Given the description of an element on the screen output the (x, y) to click on. 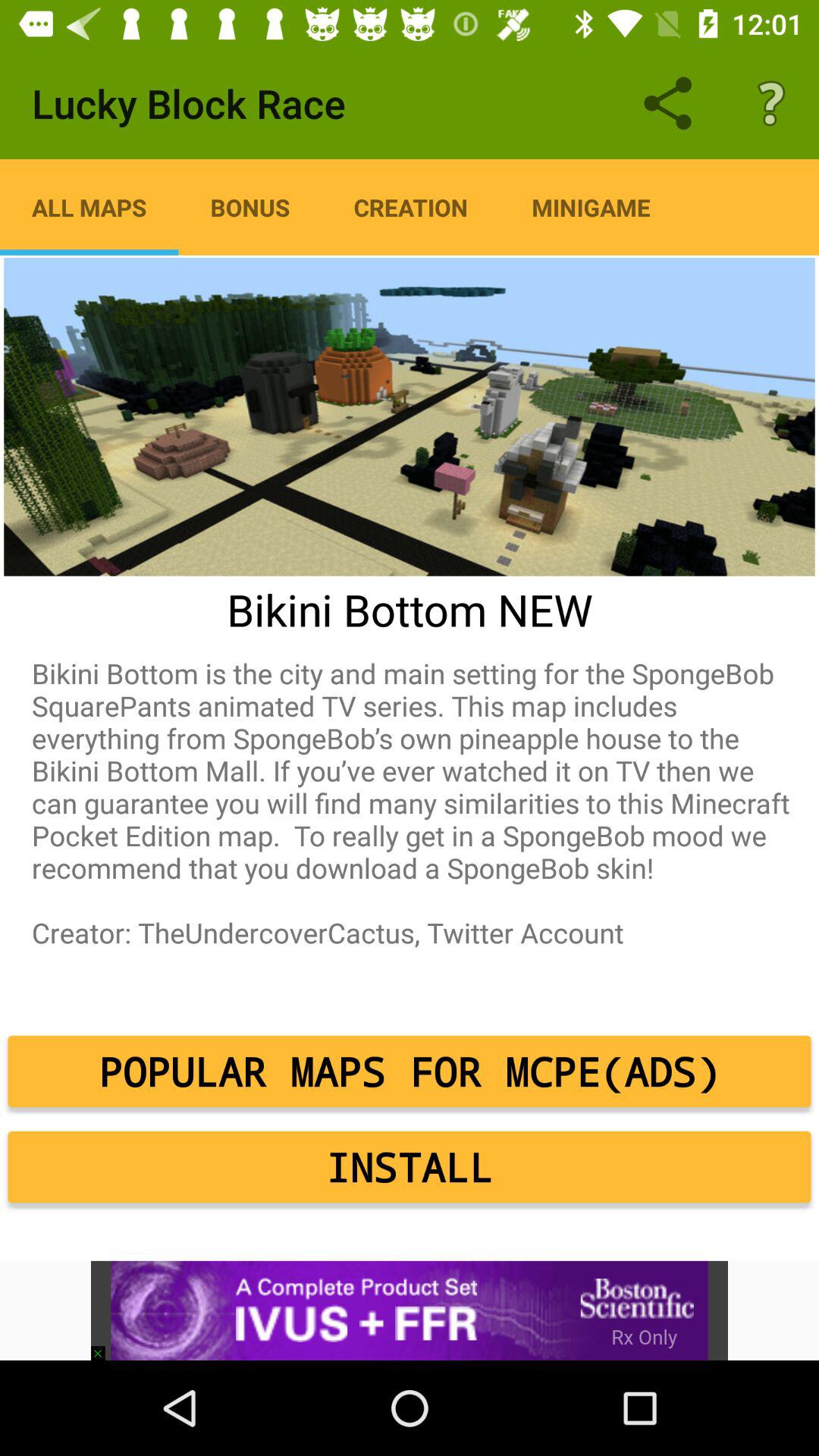
choose icon to the right of the all maps (249, 207)
